Given the description of an element on the screen output the (x, y) to click on. 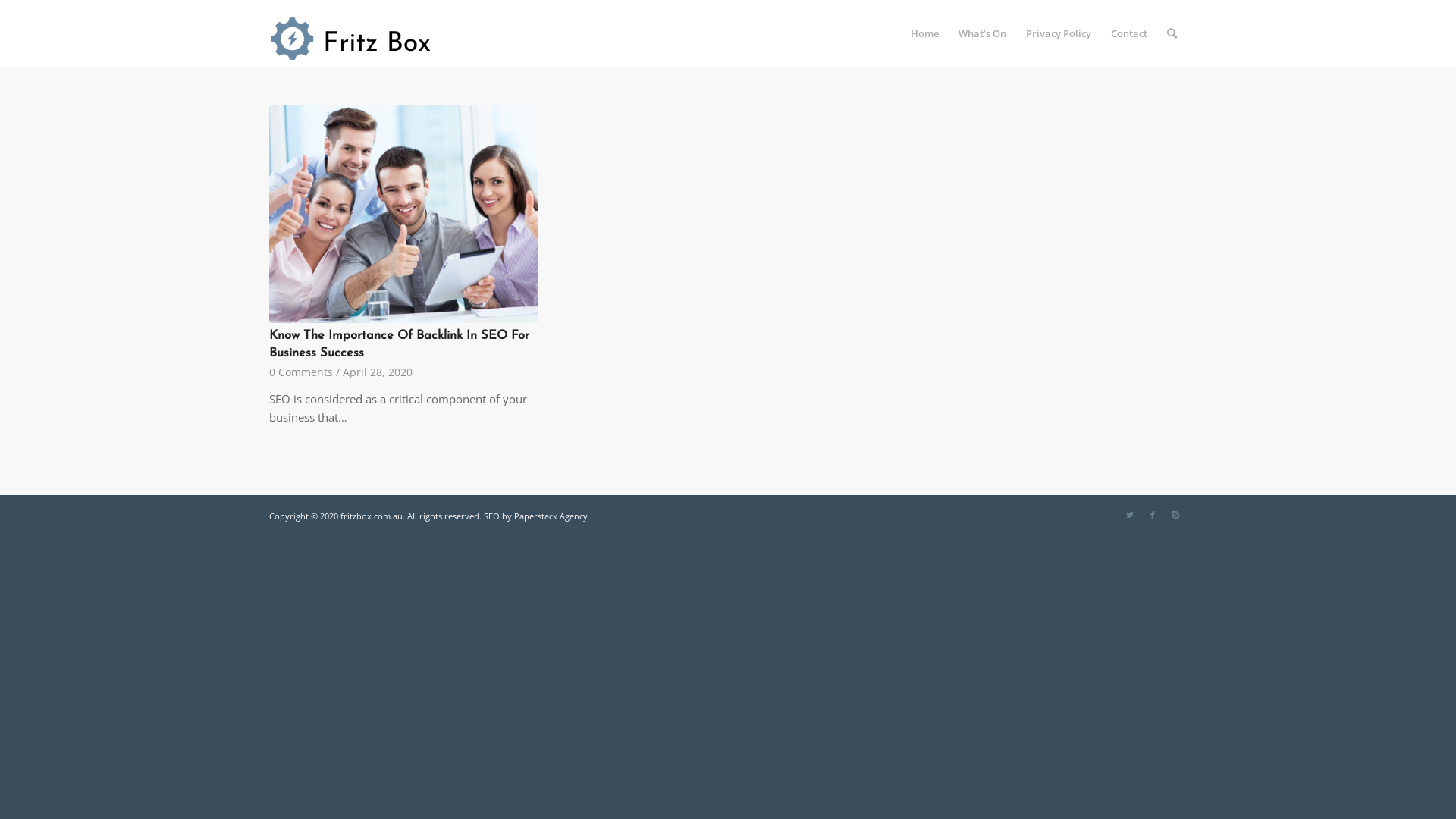
Home Element type: text (924, 33)
Know The Importance Of Backlink In SEO For Business Success Element type: text (399, 344)
Contact Element type: text (1129, 33)
Facebook Element type: hover (1152, 514)
Privacy Policy Element type: text (1058, 33)
Skype Element type: hover (1175, 514)
Paperstack Agency Element type: text (550, 515)
0 Comments Element type: text (300, 372)
Twitter Element type: hover (1129, 514)
